Given the description of an element on the screen output the (x, y) to click on. 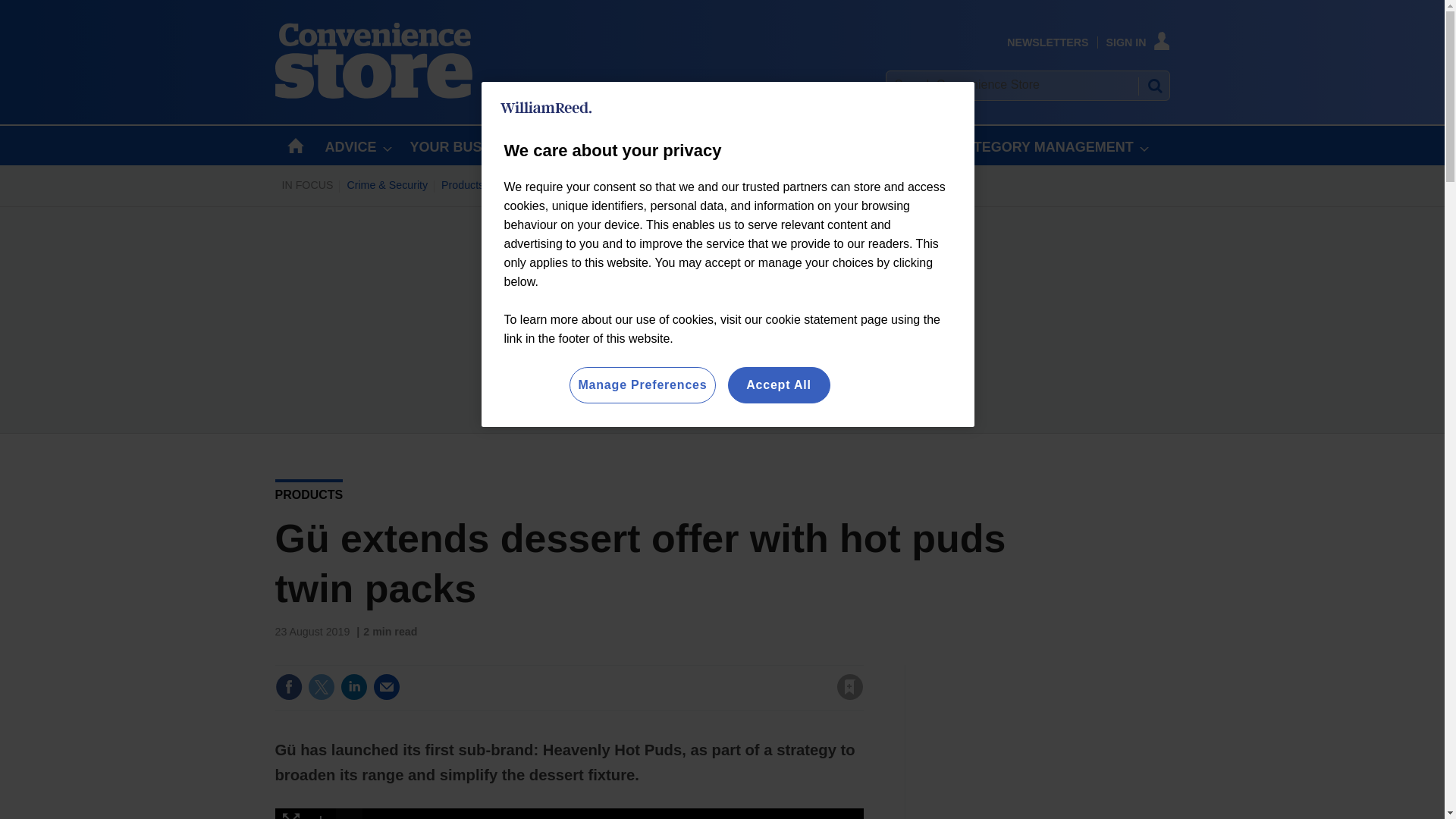
Site name (373, 93)
Share this on Twitter (320, 687)
Share this on Facebook (288, 687)
NEWSLETTERS (1047, 42)
Post Office Horizon (587, 184)
Convenience Store Vision (831, 184)
Products in Depth (483, 184)
William Reed (545, 107)
Category Management (701, 184)
